Given the description of an element on the screen output the (x, y) to click on. 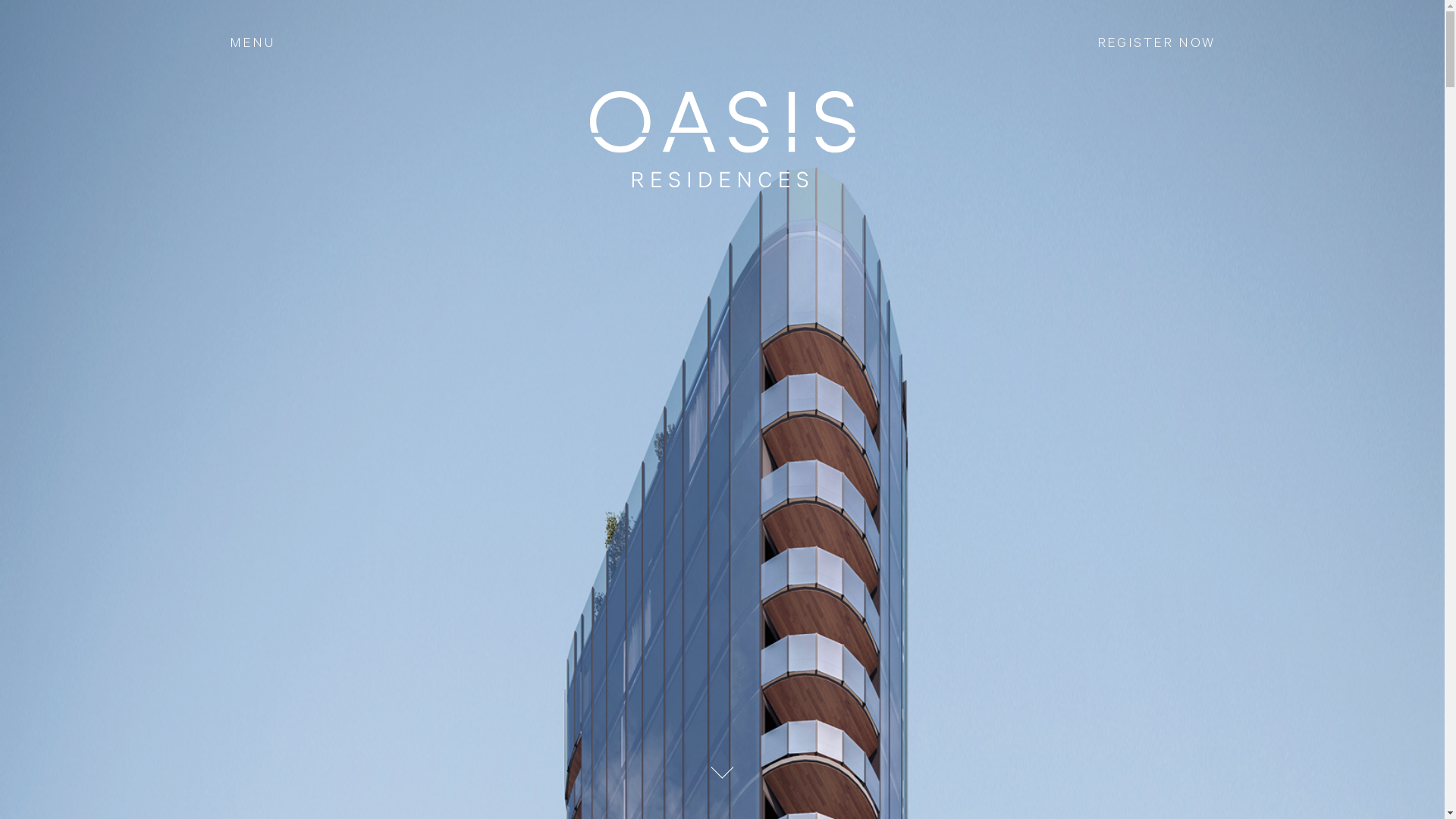
Submit Element type: text (716, 545)
REGISTER NOW Element type: text (1156, 43)
MENU Element type: text (251, 43)
